Given the description of an element on the screen output the (x, y) to click on. 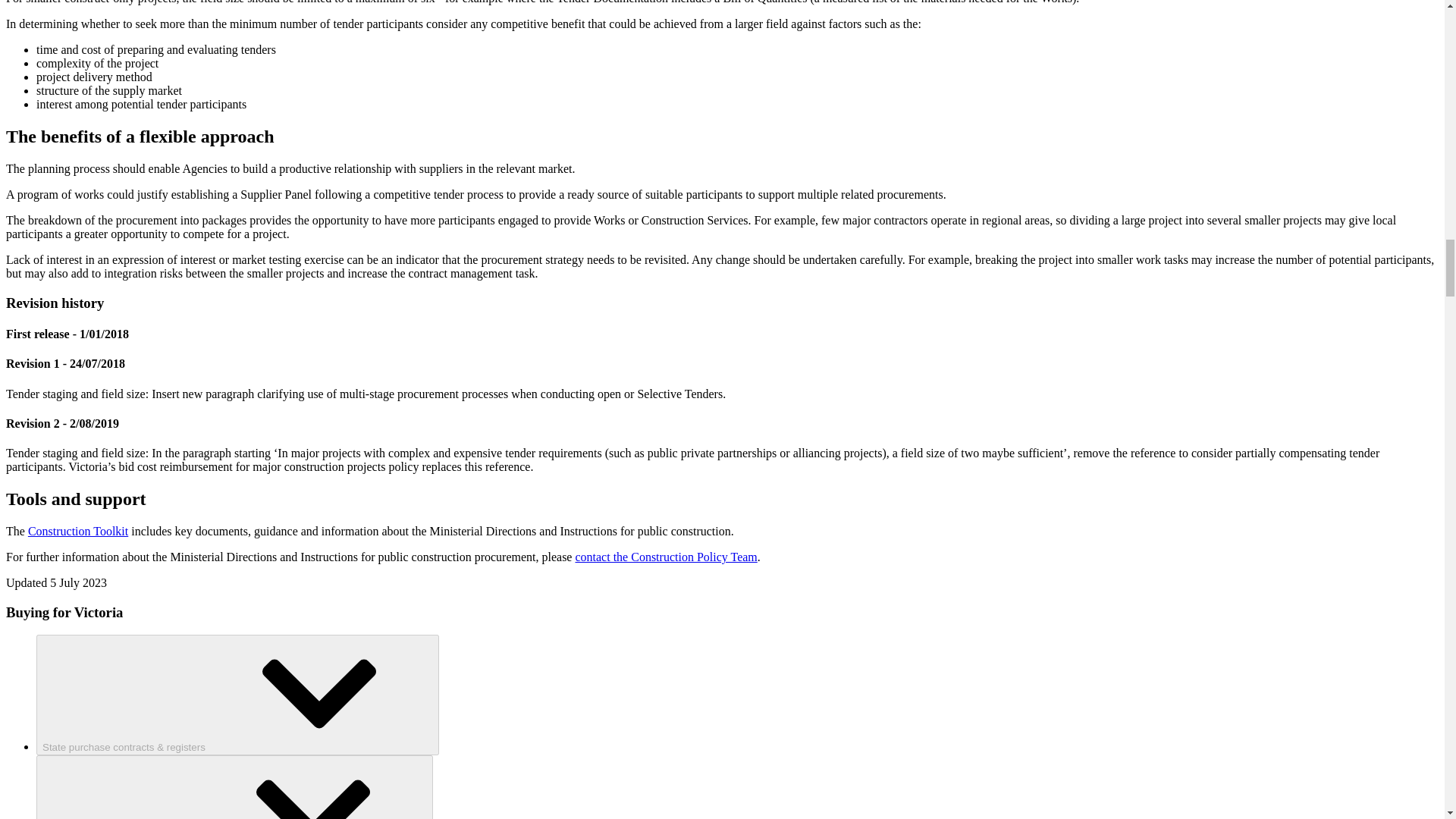
Construction Toolkit (77, 530)
Construction Toolkit (77, 530)
contact the Construction Policy Team (666, 556)
